Given the description of an element on the screen output the (x, y) to click on. 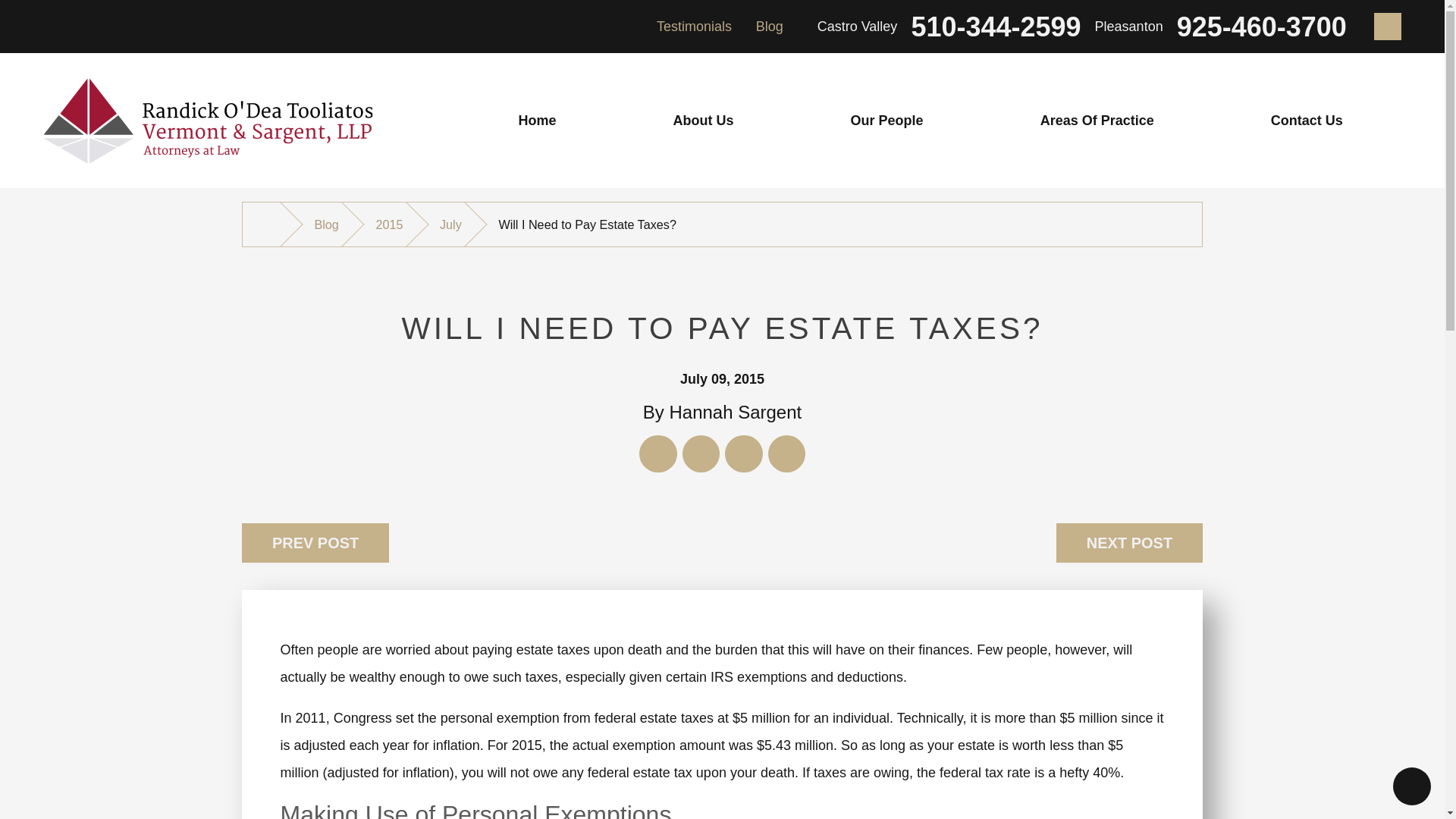
Go Home (269, 223)
About Us (703, 120)
Our People (886, 120)
925-460-3700 (1261, 26)
Search Icon (1387, 26)
Randick O'Dea Tooliatos Vermont and Sargent (207, 120)
Areas Of Practice (1096, 120)
Blog (769, 26)
Open the accessibility options menu (1412, 786)
Home (537, 120)
510-344-2599 (995, 26)
Testimonials (694, 26)
Contact Us (1306, 120)
Search Our Site (1387, 26)
